Given the description of an element on the screen output the (x, y) to click on. 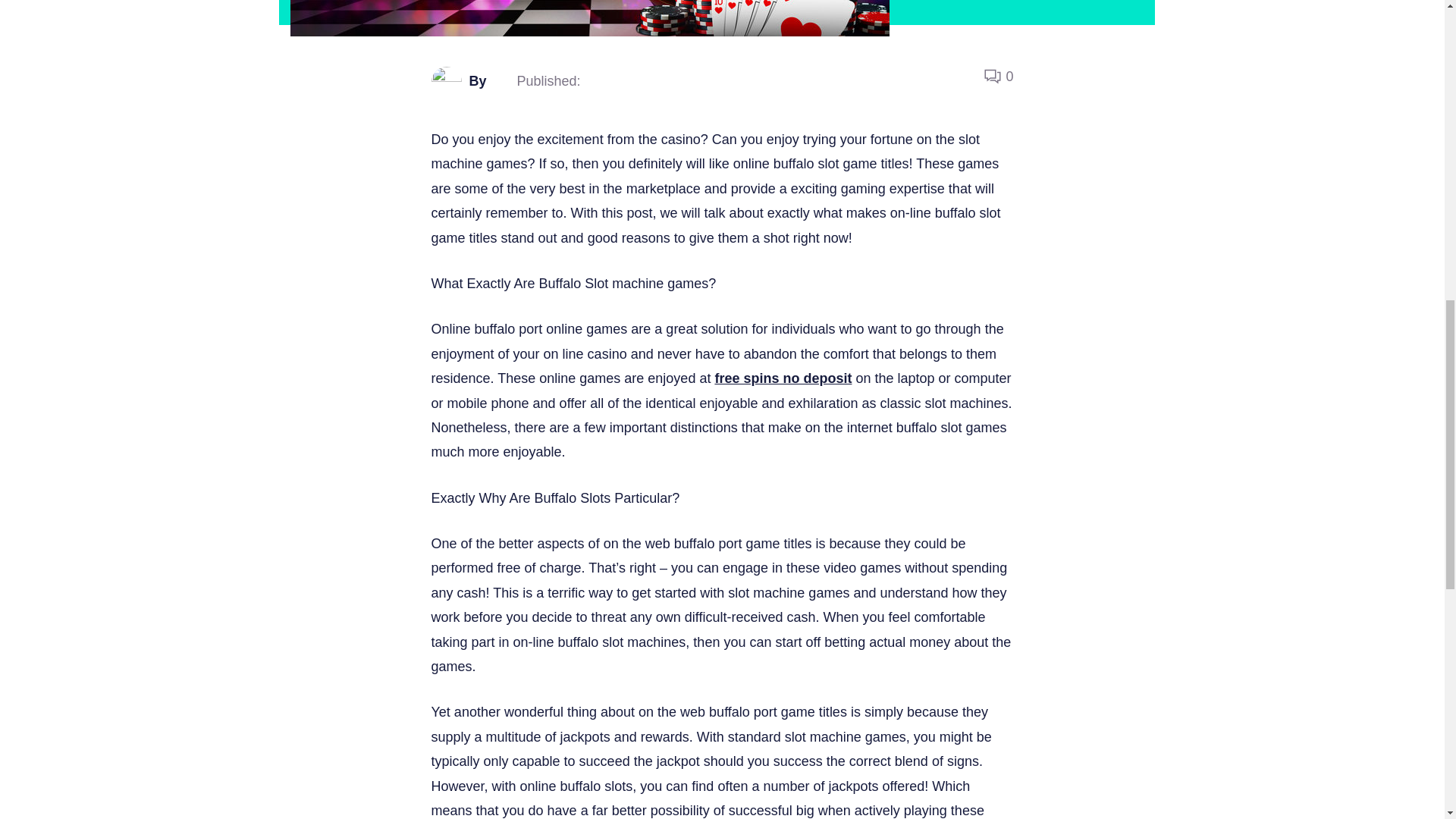
free spins no deposit (782, 378)
